Given the description of an element on the screen output the (x, y) to click on. 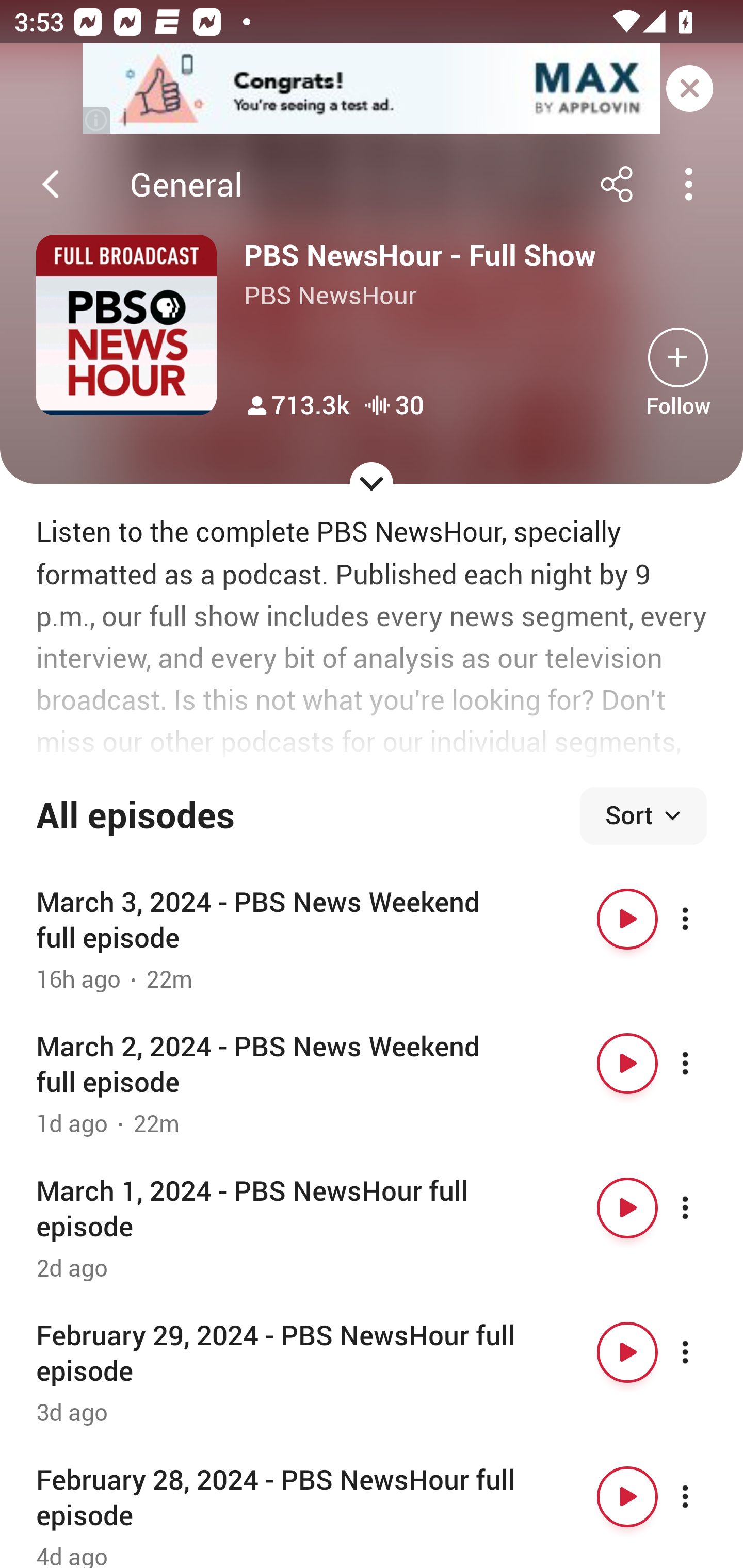
app-monetization (371, 88)
(i) (96, 119)
Back (50, 184)
Subscribe button (677, 357)
Sort episodes Sort (643, 816)
Play button (627, 919)
More options (703, 919)
Play button (627, 1063)
More options (703, 1063)
Play button (627, 1208)
More options (703, 1208)
Play button (627, 1352)
More options (703, 1352)
Play button (627, 1496)
More options (703, 1496)
